Given the description of an element on the screen output the (x, y) to click on. 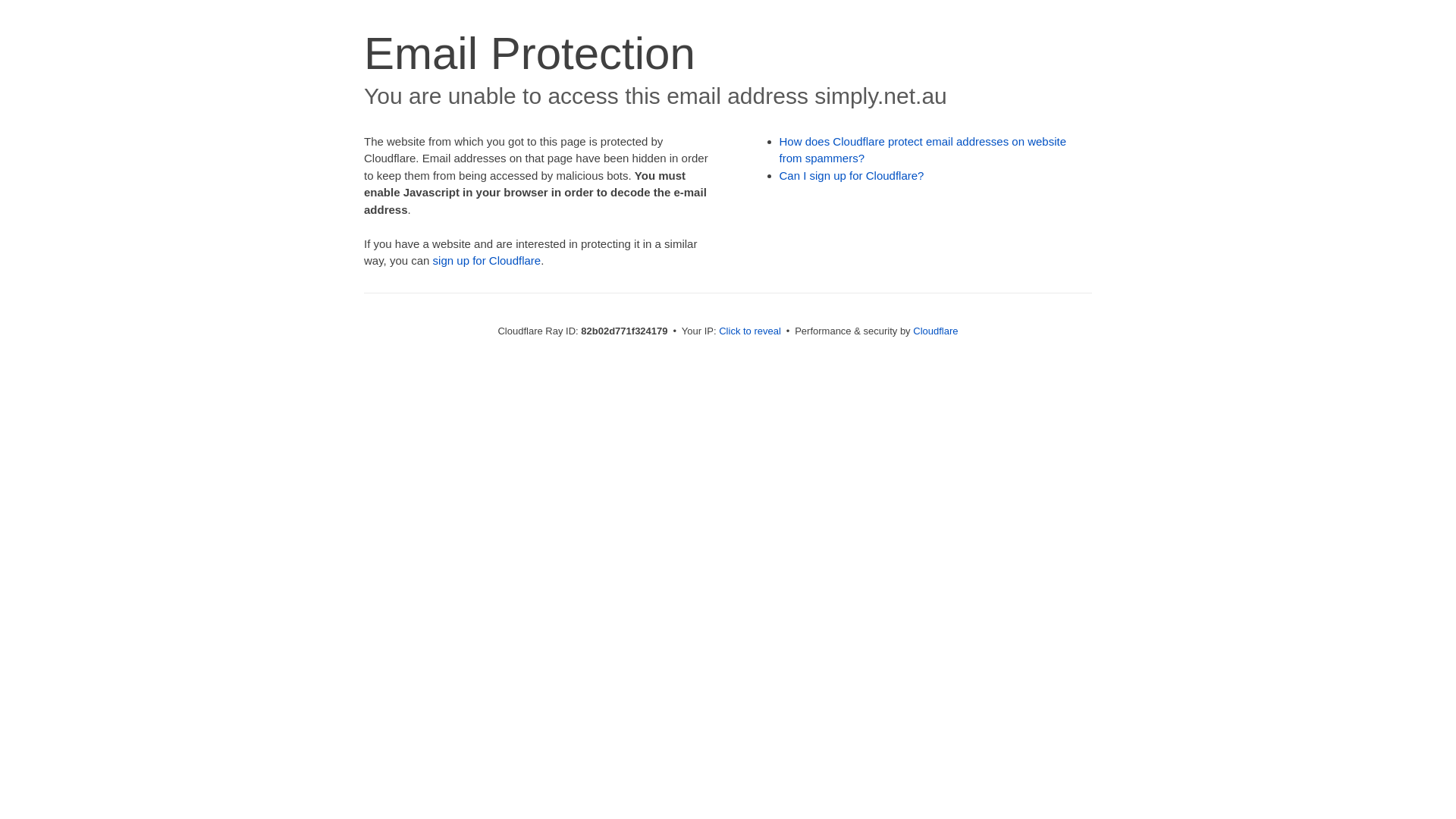
Can I sign up for Cloudflare? Element type: text (851, 175)
Click to reveal Element type: text (749, 330)
Cloudflare Element type: text (935, 330)
sign up for Cloudflare Element type: text (487, 260)
